Given the description of an element on the screen output the (x, y) to click on. 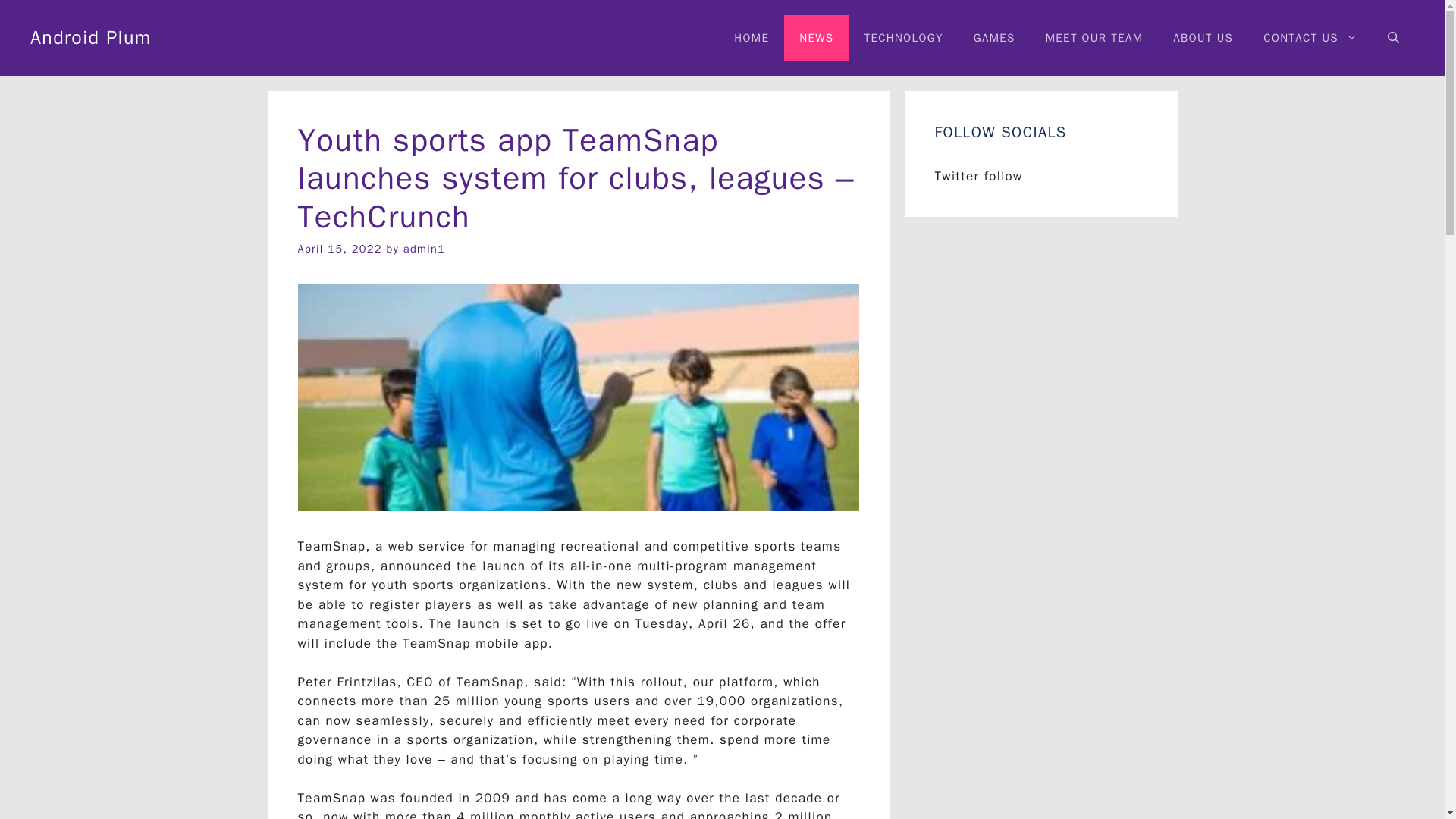
CONTACT US (1310, 37)
MEET OUR TEAM (1094, 37)
ABOUT US (1202, 37)
NEWS (816, 37)
View all posts by admin1 (424, 248)
GAMES (994, 37)
HOME (751, 37)
TECHNOLOGY (903, 37)
admin1 (424, 248)
Android Plum (90, 37)
